Given the description of an element on the screen output the (x, y) to click on. 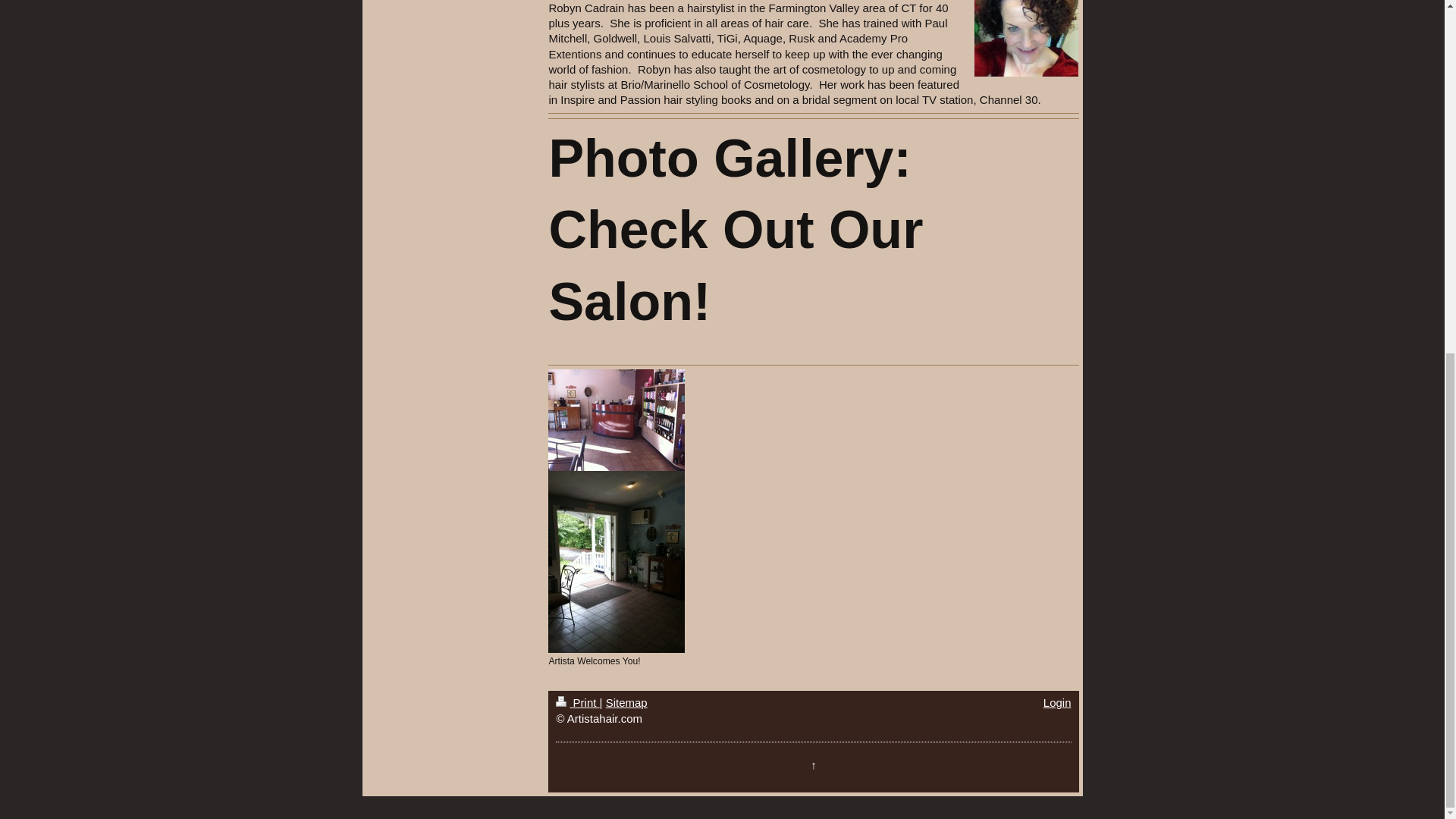
Sitemap (626, 702)
Print (577, 702)
Login (1057, 702)
